Given the description of an element on the screen output the (x, y) to click on. 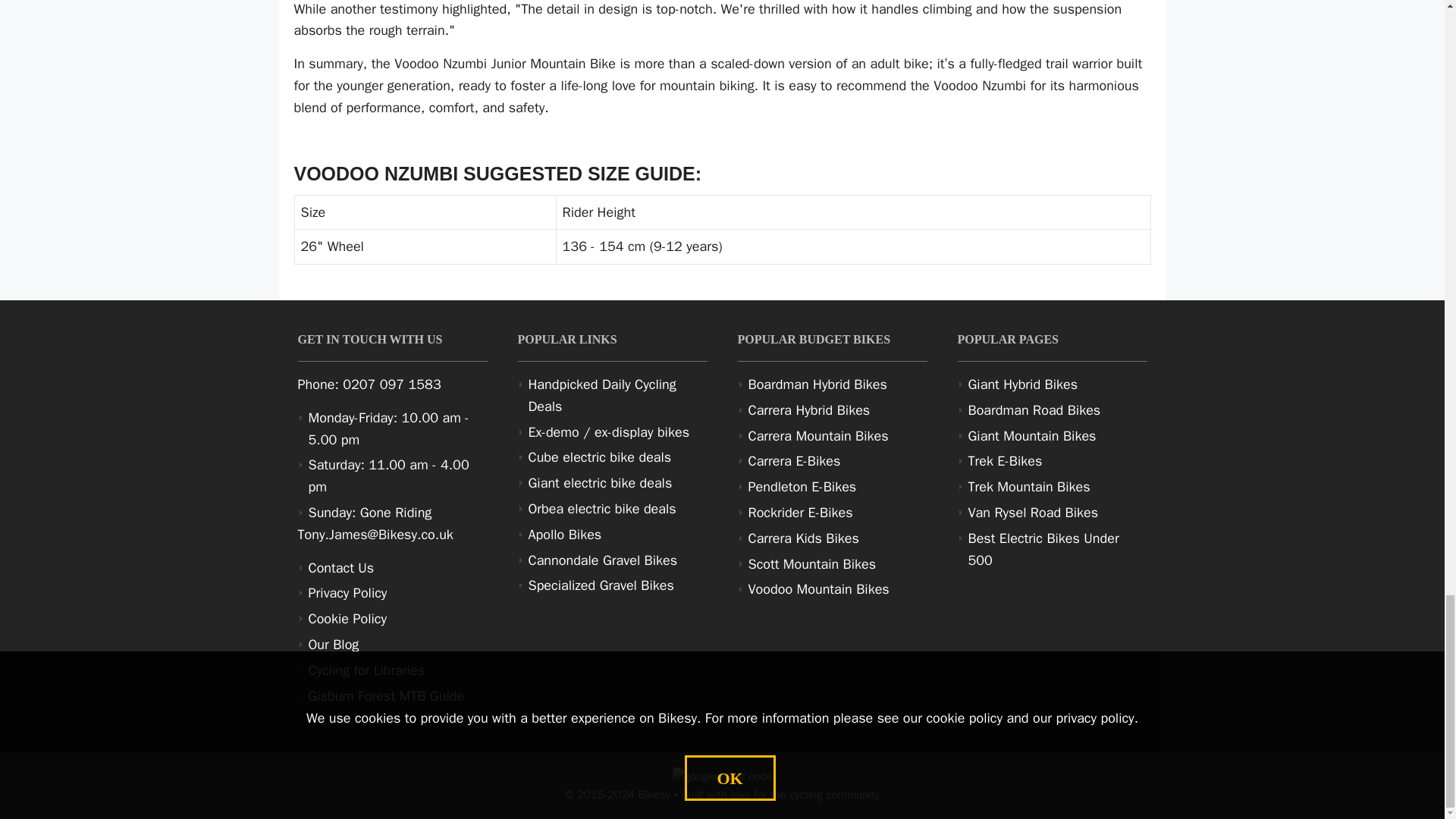
Privacy Policy (347, 592)
Handpicked Daily Cycling Deals (601, 394)
Carrera Mountain Bikes (818, 435)
Boardman Hybrid Bikes (817, 384)
Giant electric bike deals (599, 483)
Carrera Hybrid Bikes (808, 410)
Apollo Bikes (564, 534)
Carrera E-Bikes (794, 460)
Handpicked Daily Cycling Deals (601, 394)
Gisburn Forest MTB Guide (385, 695)
